Given the description of an element on the screen output the (x, y) to click on. 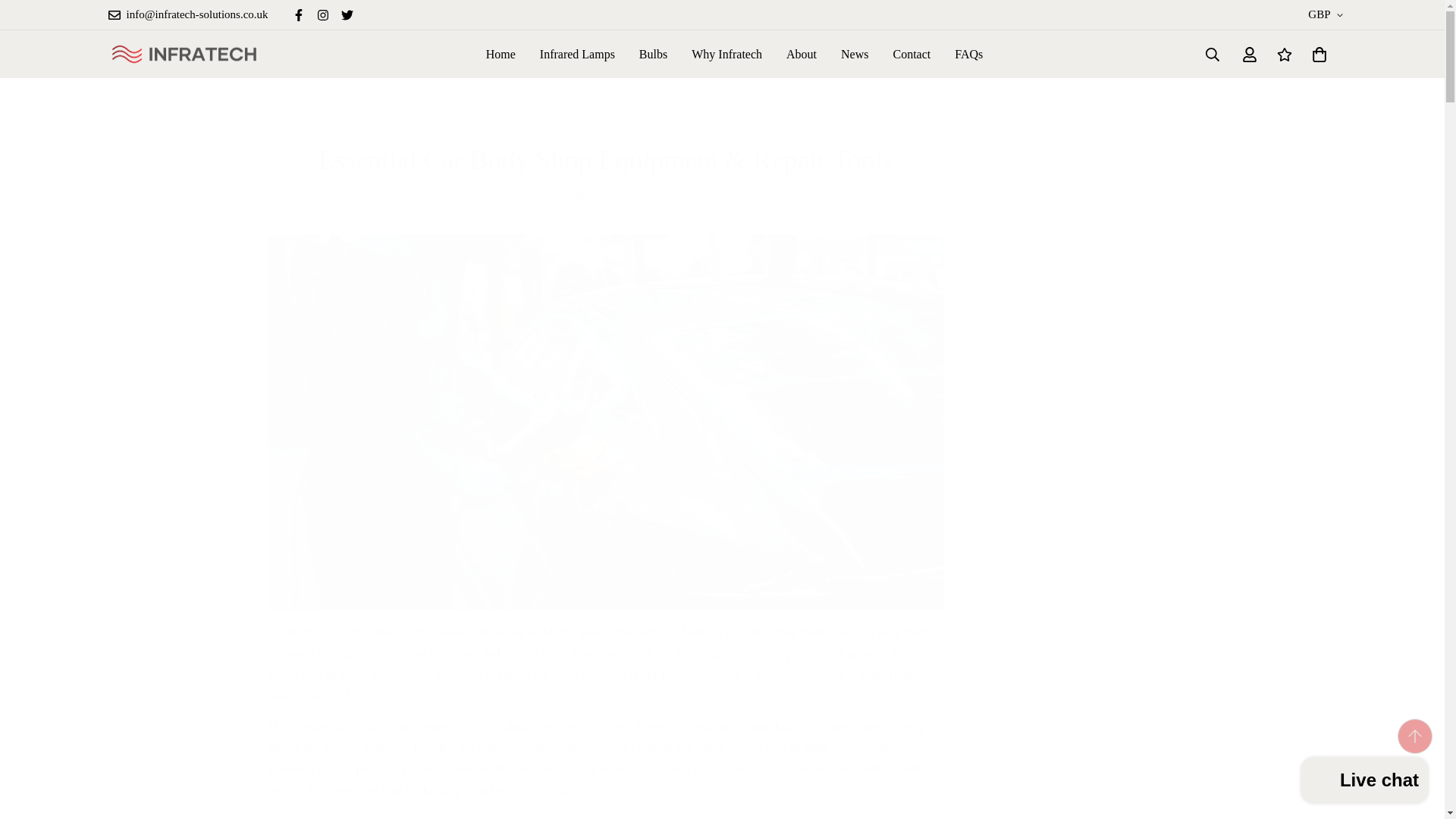
InfraTech (183, 54)
Shopify online store chat (1364, 781)
Contact (911, 53)
Bulbs (653, 53)
News (854, 53)
Infrared Lamps (577, 53)
LATEST NEWS (604, 125)
Home (500, 53)
